Given the description of an element on the screen output the (x, y) to click on. 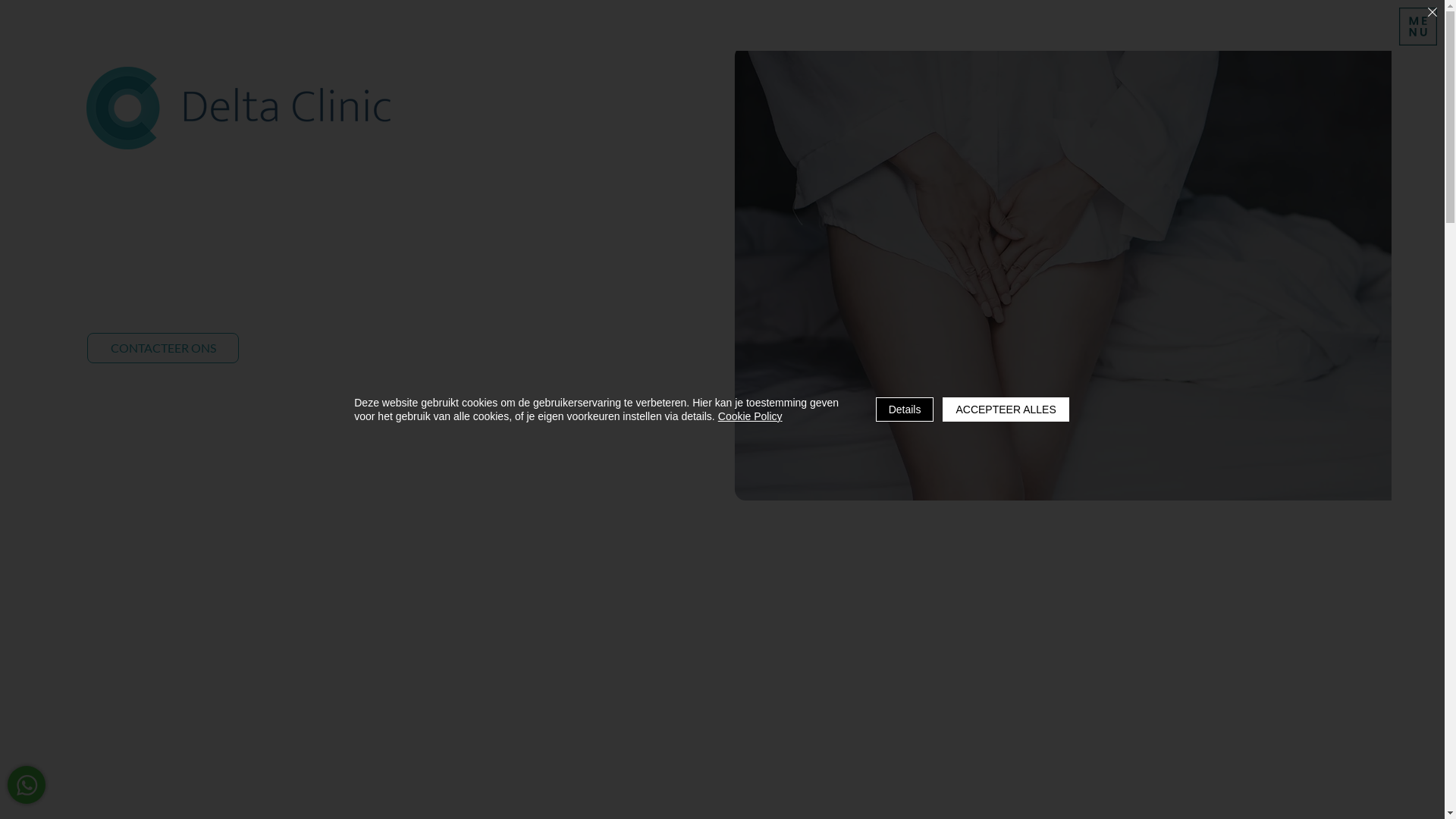
Details Element type: text (904, 409)
ACCEPTEER ALLES Element type: text (1005, 409)
Cookie Policy Element type: text (750, 416)
CONTACTEER ONS Element type: text (162, 347)
Logo Delta Clinic Element type: hover (238, 107)
